Given the description of an element on the screen output the (x, y) to click on. 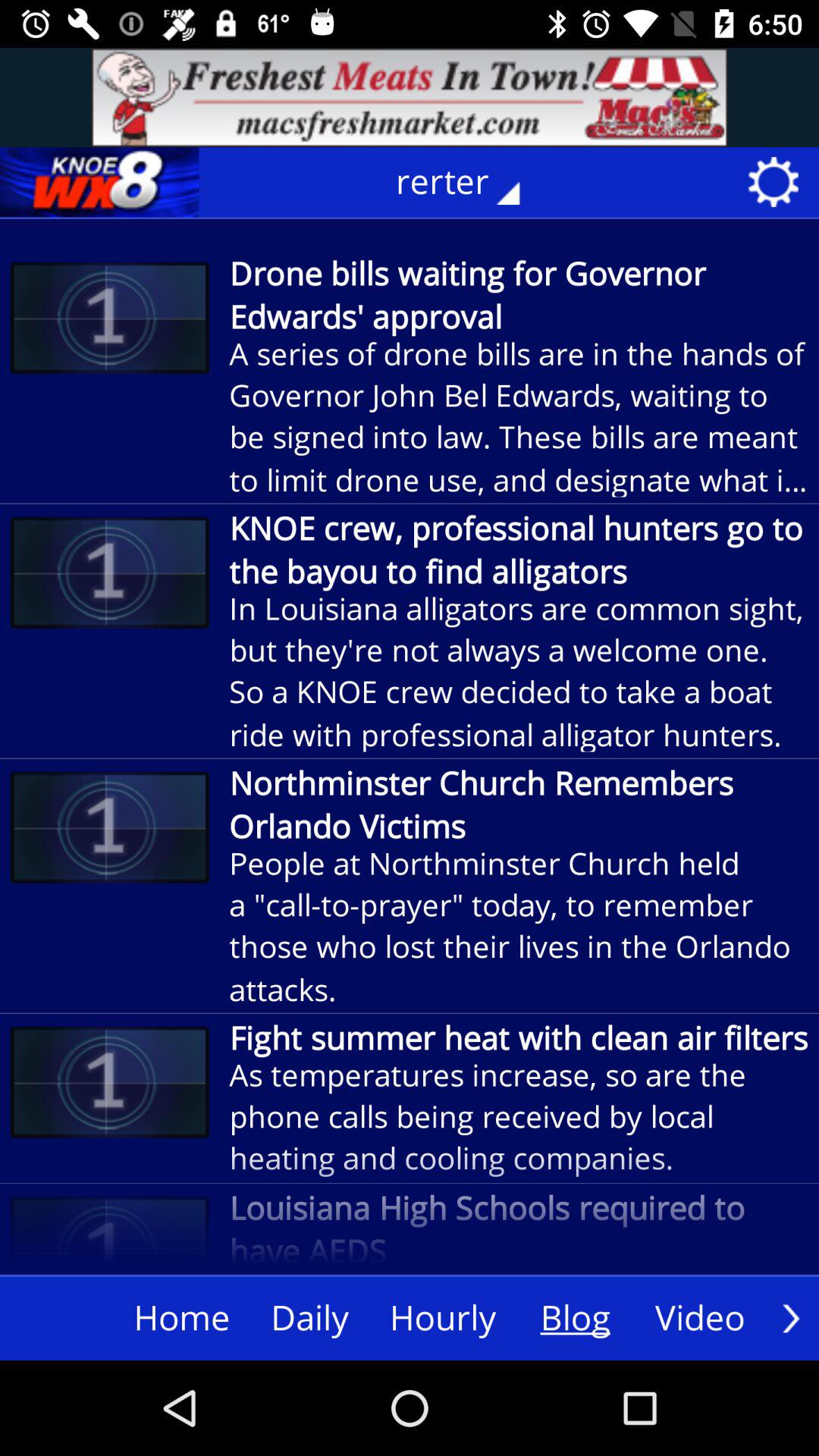
advertisement to open macsfreshmarket.com website (409, 97)
